Given the description of an element on the screen output the (x, y) to click on. 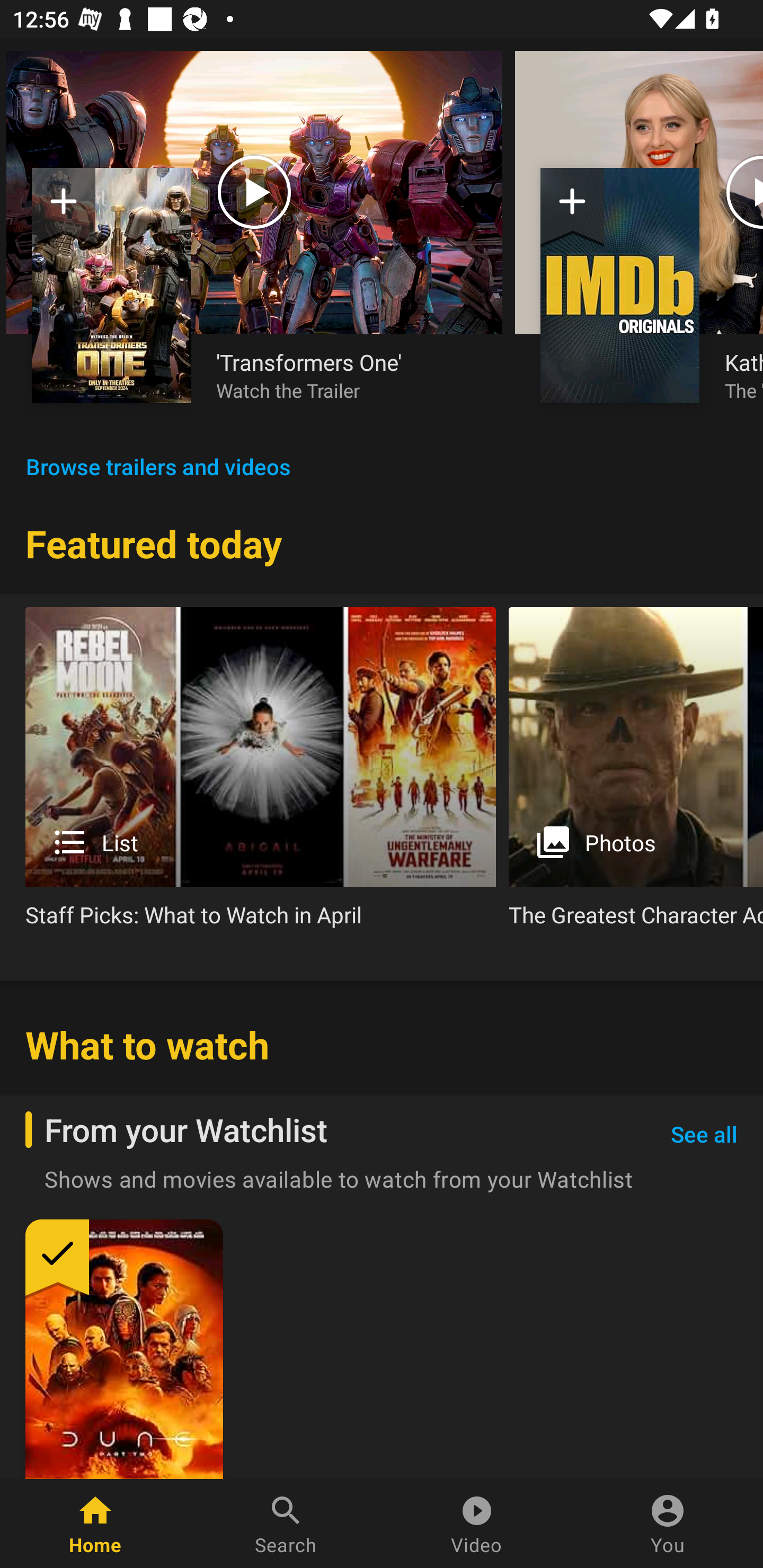
Not in watchlist (111, 284)
Not in watchlist (63, 207)
Not in watchlist (619, 284)
Not in watchlist (572, 207)
'Transformers One' Watch the Trailer (345, 374)
List Staff Picks: What to Watch in April (260, 774)
Photos The Greatest Character Actors of All Time (635, 774)
See all See all From your Watchlist (703, 1134)
Search (285, 1523)
Video (476, 1523)
You (667, 1523)
